Given the description of an element on the screen output the (x, y) to click on. 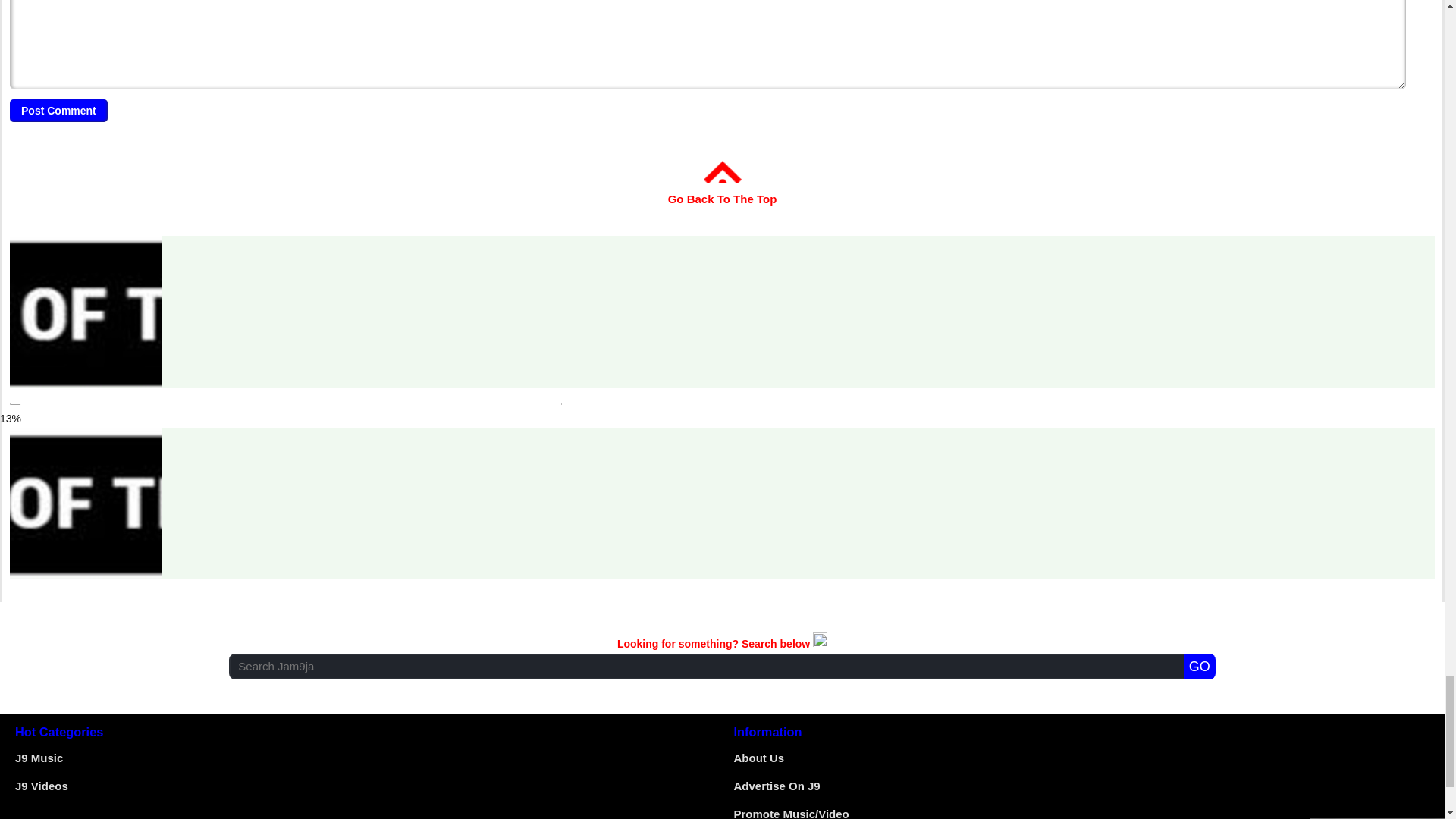
GO (1199, 666)
J9 Music (38, 757)
Advertise On J9 (777, 785)
GO (1199, 666)
Go Back To The Top (722, 188)
About Us (758, 757)
Post Comment (58, 110)
J9 Videos (41, 785)
Post Comment (58, 110)
